Given the description of an element on the screen output the (x, y) to click on. 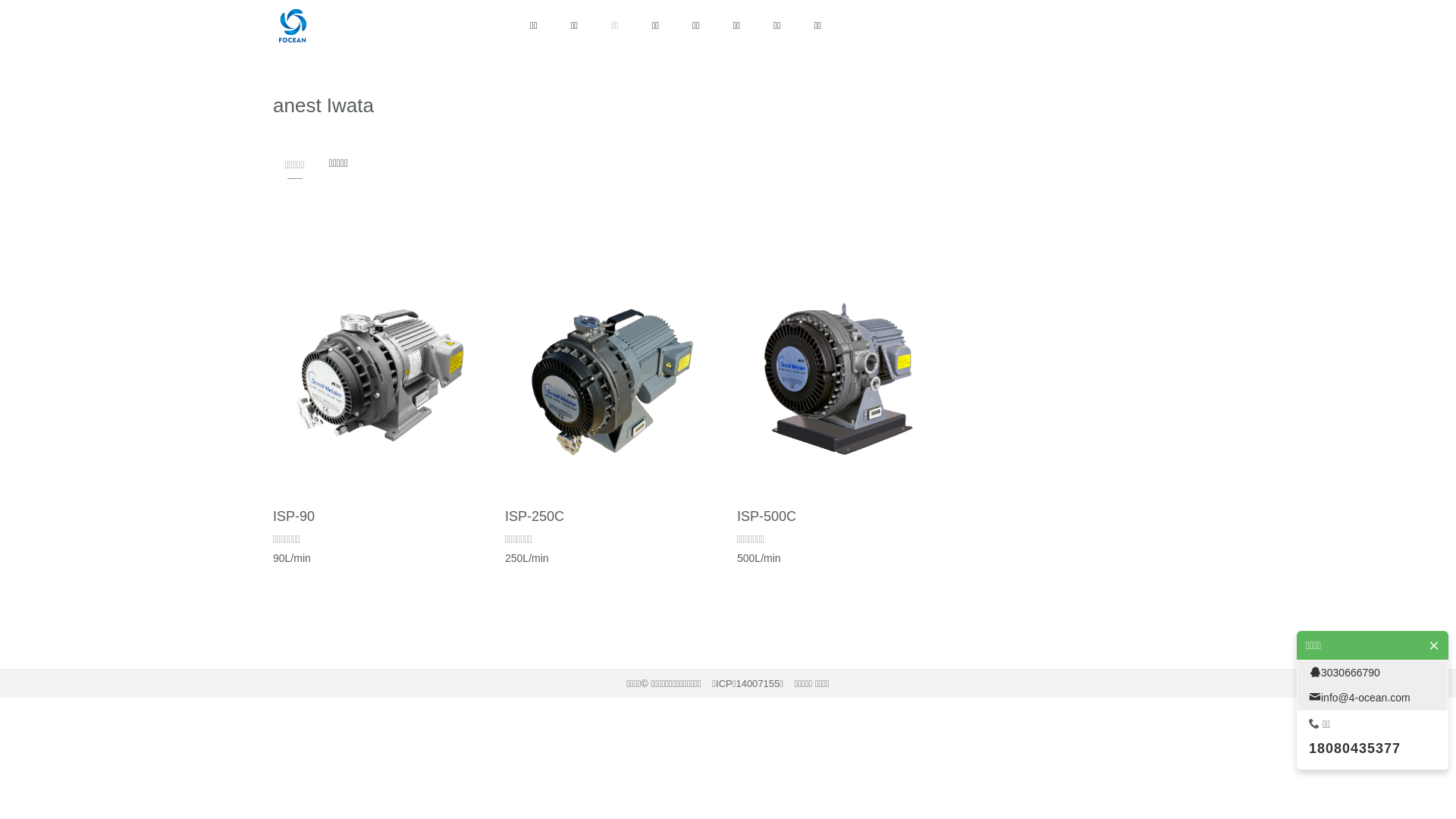
info@4-ocean.com Element type: text (1372, 697)
18080435377 Element type: text (1372, 749)
3030666790 Element type: text (1372, 672)
